Given the description of an element on the screen output the (x, y) to click on. 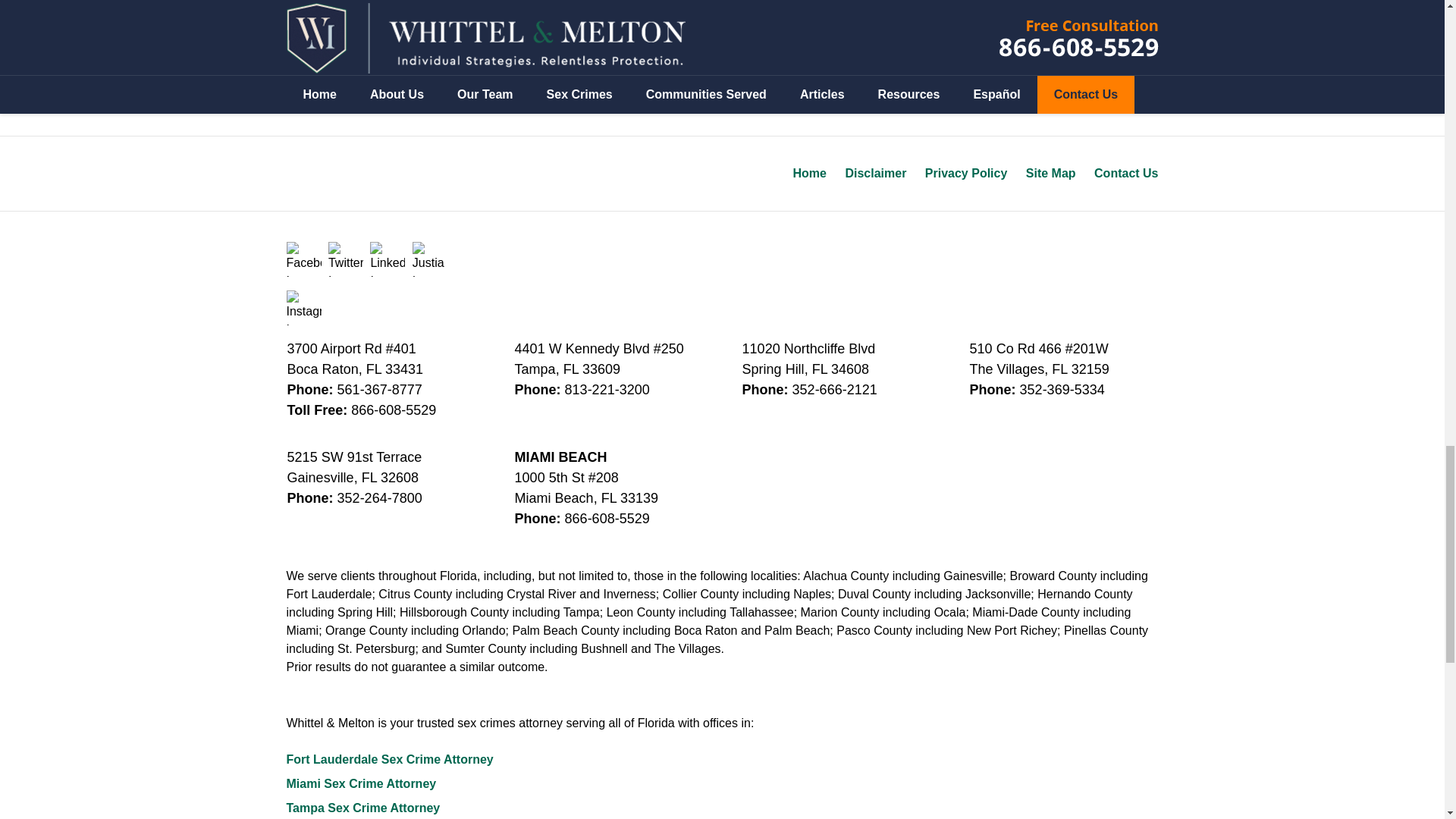
Instagram (303, 307)
Justia (429, 258)
LinkedIn (386, 258)
Twitter (345, 258)
Facebook (303, 258)
